Given the description of an element on the screen output the (x, y) to click on. 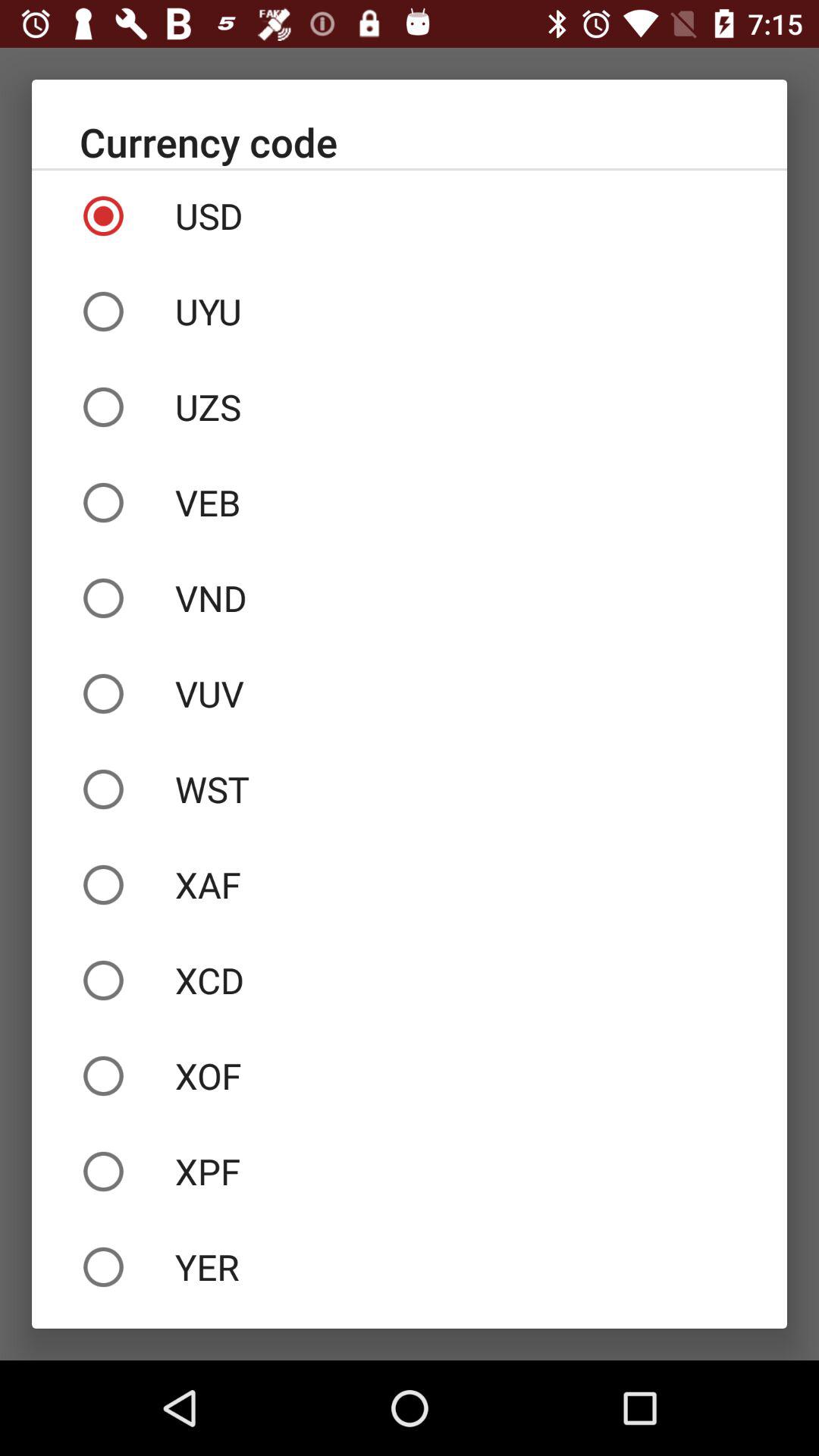
jump until the vuv item (409, 693)
